Given the description of an element on the screen output the (x, y) to click on. 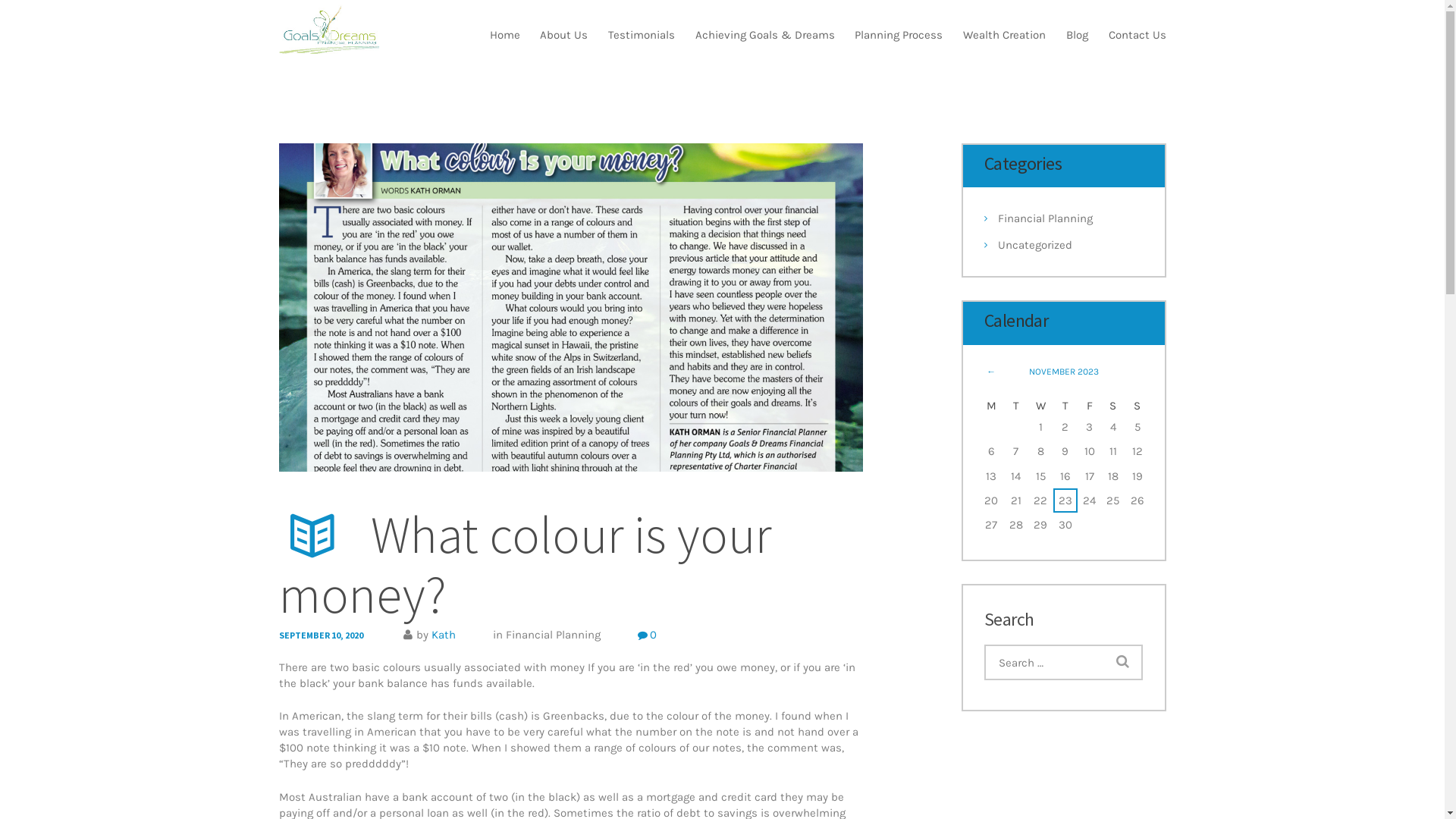
Financial Planning Element type: text (552, 634)
Search for: Element type: hover (1063, 662)
Testimonials Element type: text (641, 34)
0 Element type: text (646, 634)
Kath Element type: text (442, 634)
Uncategorized Element type: text (1034, 244)
Achieving Goals & Dreams Element type: text (764, 34)
SEPTEMBER 10, 2020 Element type: text (321, 634)
Contact Us Element type: text (1131, 34)
What colour is your money? Element type: hover (570, 307)
Wealth Creation Element type: text (1004, 34)
Financial Planning Element type: text (1044, 218)
About Us Element type: text (564, 34)
Planning Process Element type: text (898, 34)
Home Element type: text (504, 34)
View posts for December 2020 Element type: hover (991, 371)
Blog Element type: text (1076, 34)
